Given the description of an element on the screen output the (x, y) to click on. 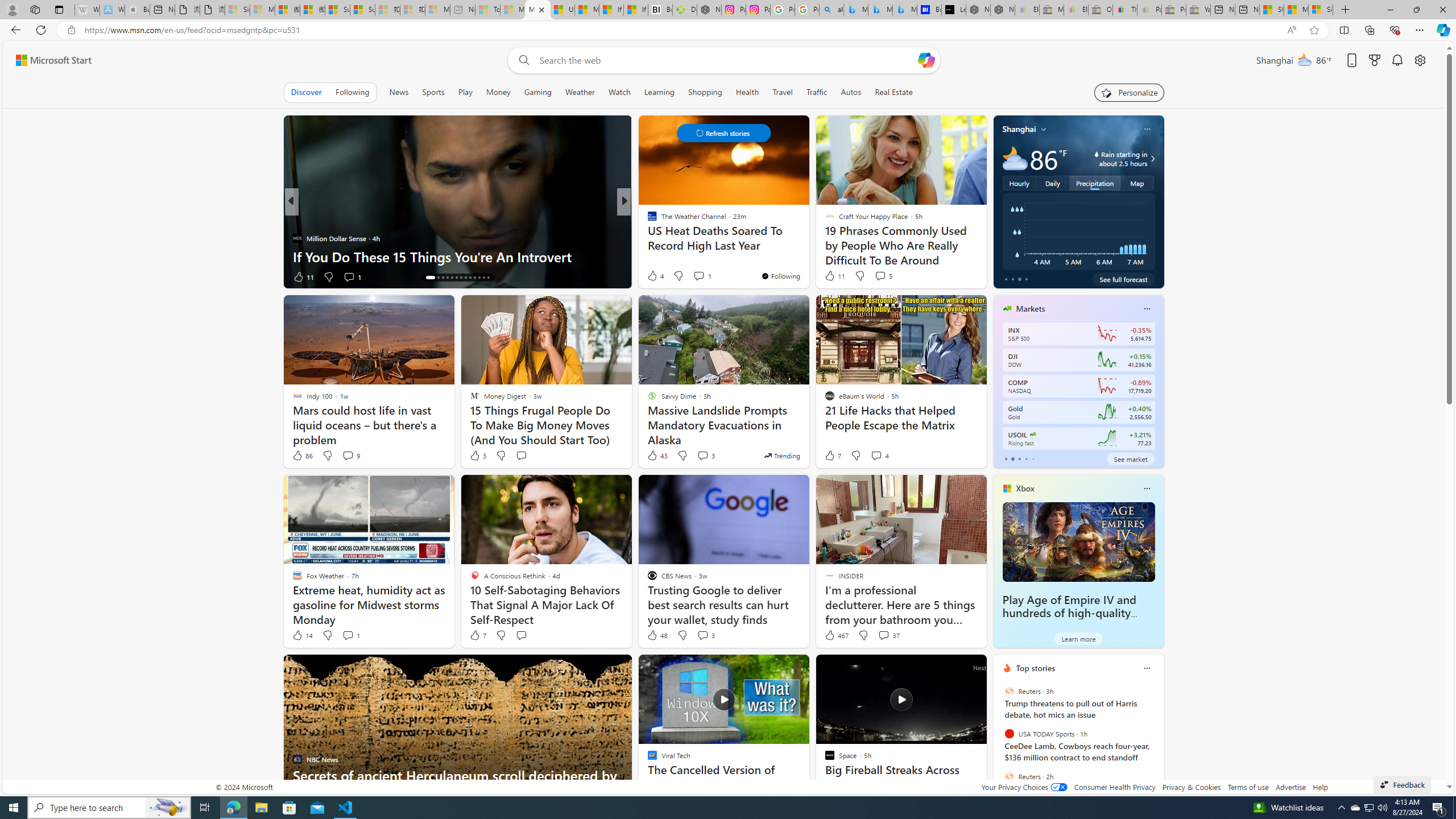
'Pretty spectacular' discovery in George Washington's cellar (807, 247)
GOBankingRates (647, 219)
US Oil WTI (1032, 434)
See market (1130, 459)
View comments 2 Comment (698, 276)
38 Like (652, 276)
Payments Terms of Use | eBay.com - Sleeping (1149, 9)
next (1158, 741)
AutomationID: tab-18 (451, 277)
